Given the description of an element on the screen output the (x, y) to click on. 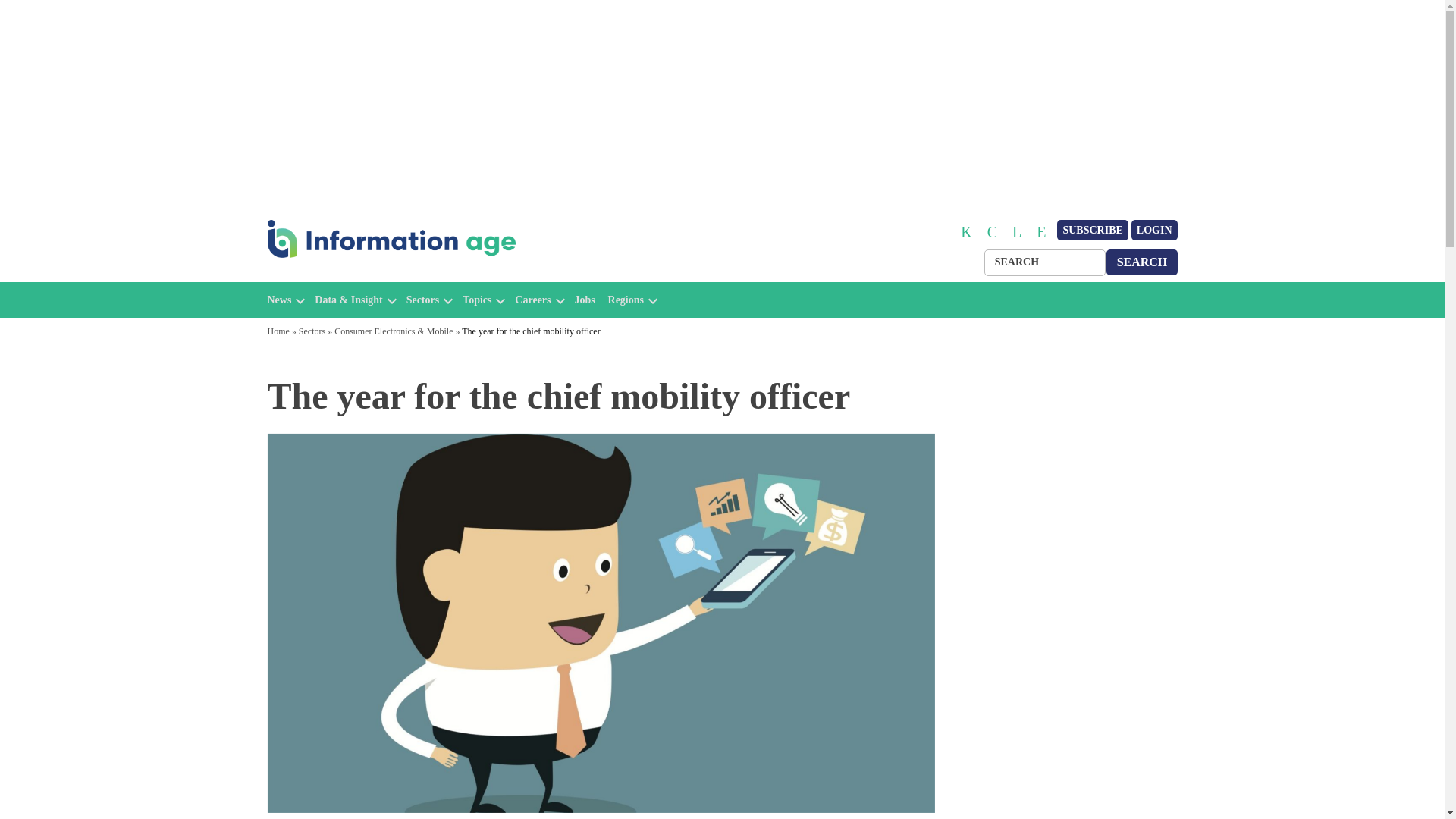
Information Age (331, 275)
News (278, 299)
Sectors (422, 299)
LOGIN (1154, 230)
SUBSCRIBE (1091, 230)
SEARCH (1142, 261)
